Given the description of an element on the screen output the (x, y) to click on. 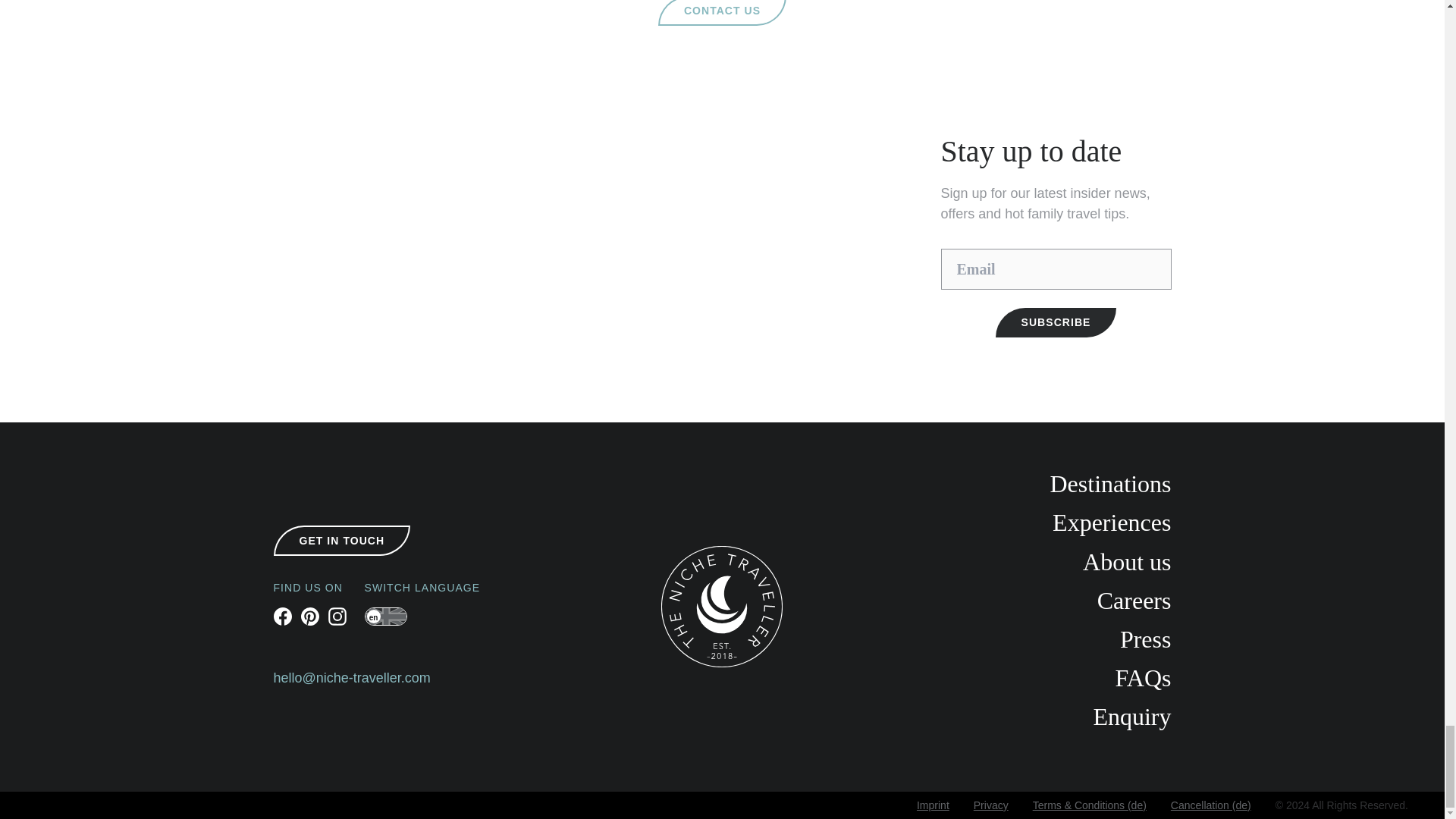
CONTACT US (722, 12)
FAQs (1022, 678)
Careers (1022, 601)
Press (1022, 639)
Enquiry (1022, 716)
Destinations (1022, 483)
en (385, 616)
Subscribe (1055, 322)
GET IN TOUCH (341, 540)
Imprint (933, 805)
